Given the description of an element on the screen output the (x, y) to click on. 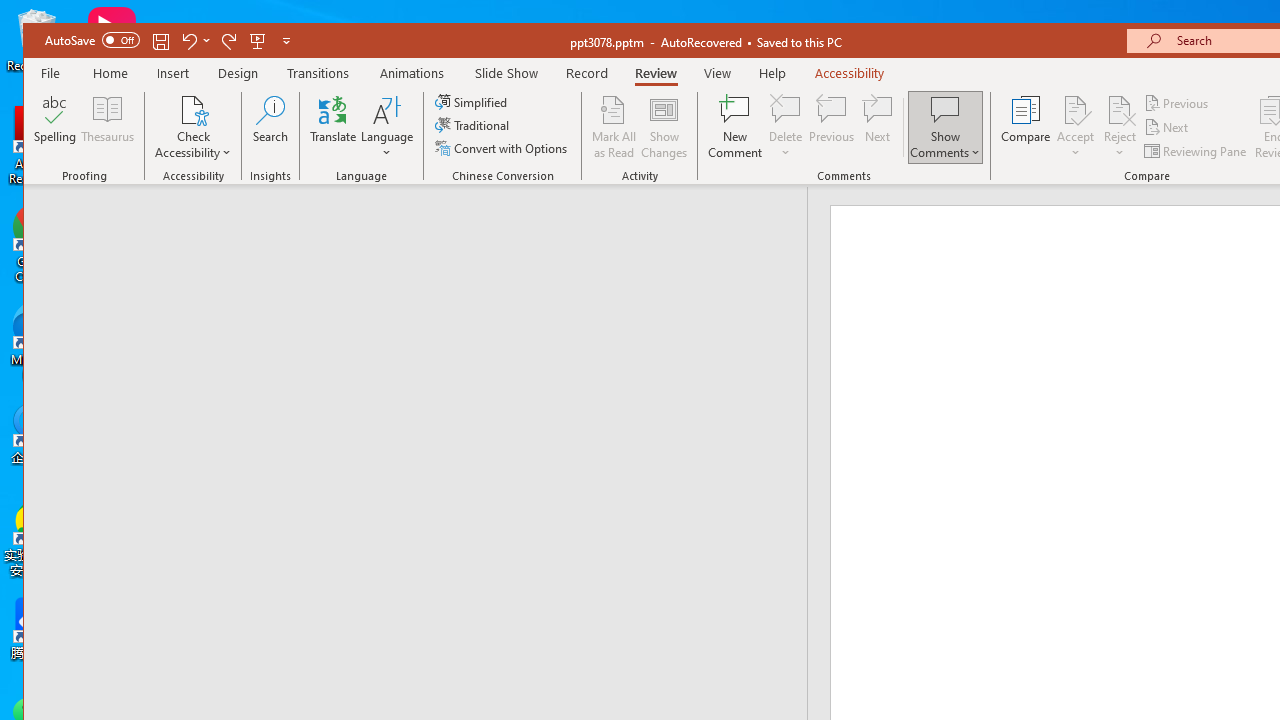
Convert with Options... (502, 147)
Reject (1119, 127)
Compare (1025, 127)
New Comment (735, 127)
Outline (424, 226)
Accept Change (1075, 109)
Simplified (473, 101)
Language (387, 127)
Check Accessibility (193, 127)
